Given the description of an element on the screen output the (x, y) to click on. 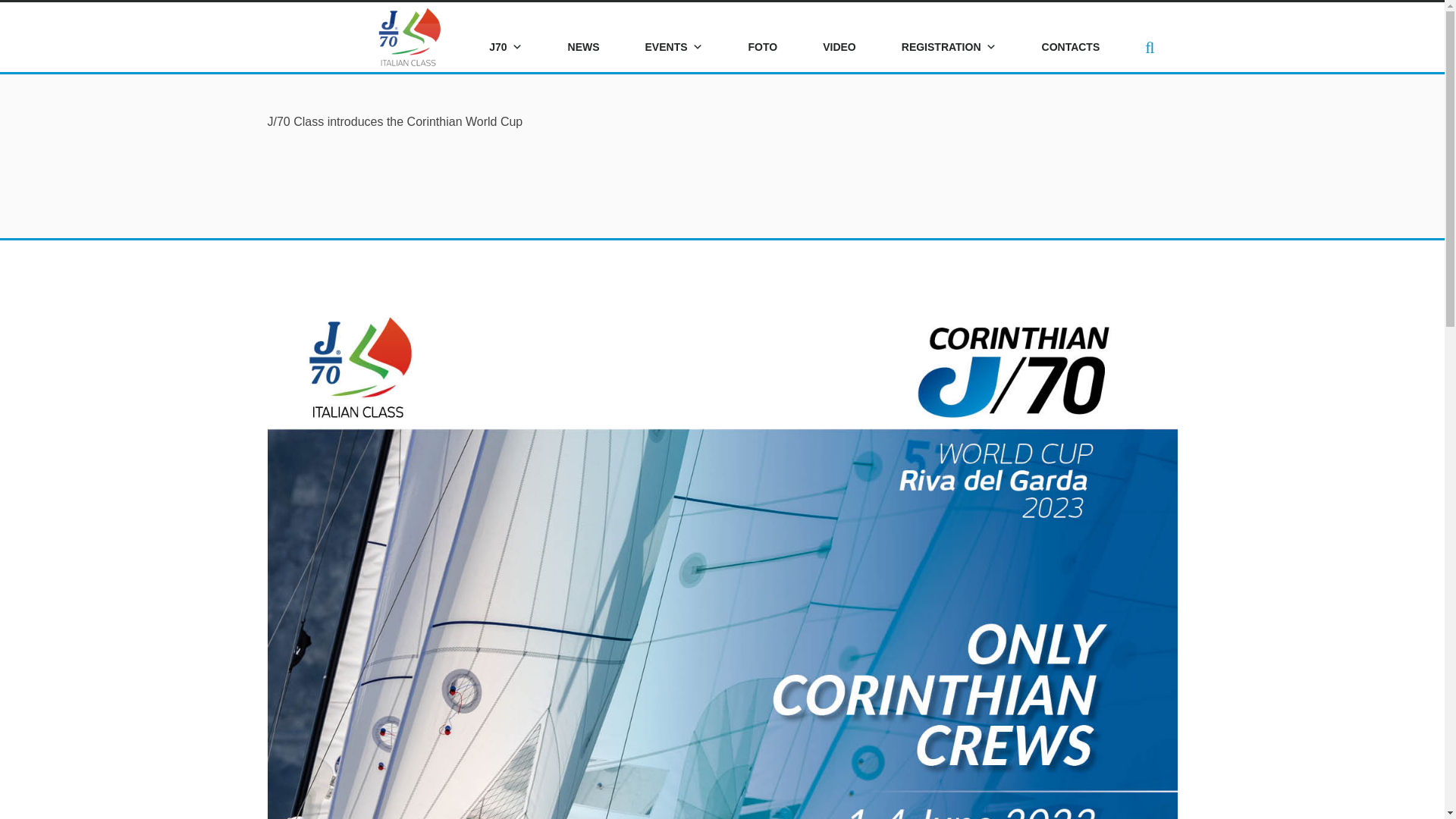
VIDEO (839, 47)
EVENTS (674, 47)
J70 (504, 47)
NEWS (583, 47)
REGISTRATION (949, 47)
FOTO (762, 47)
CONTACTS (1070, 47)
